Given the description of an element on the screen output the (x, y) to click on. 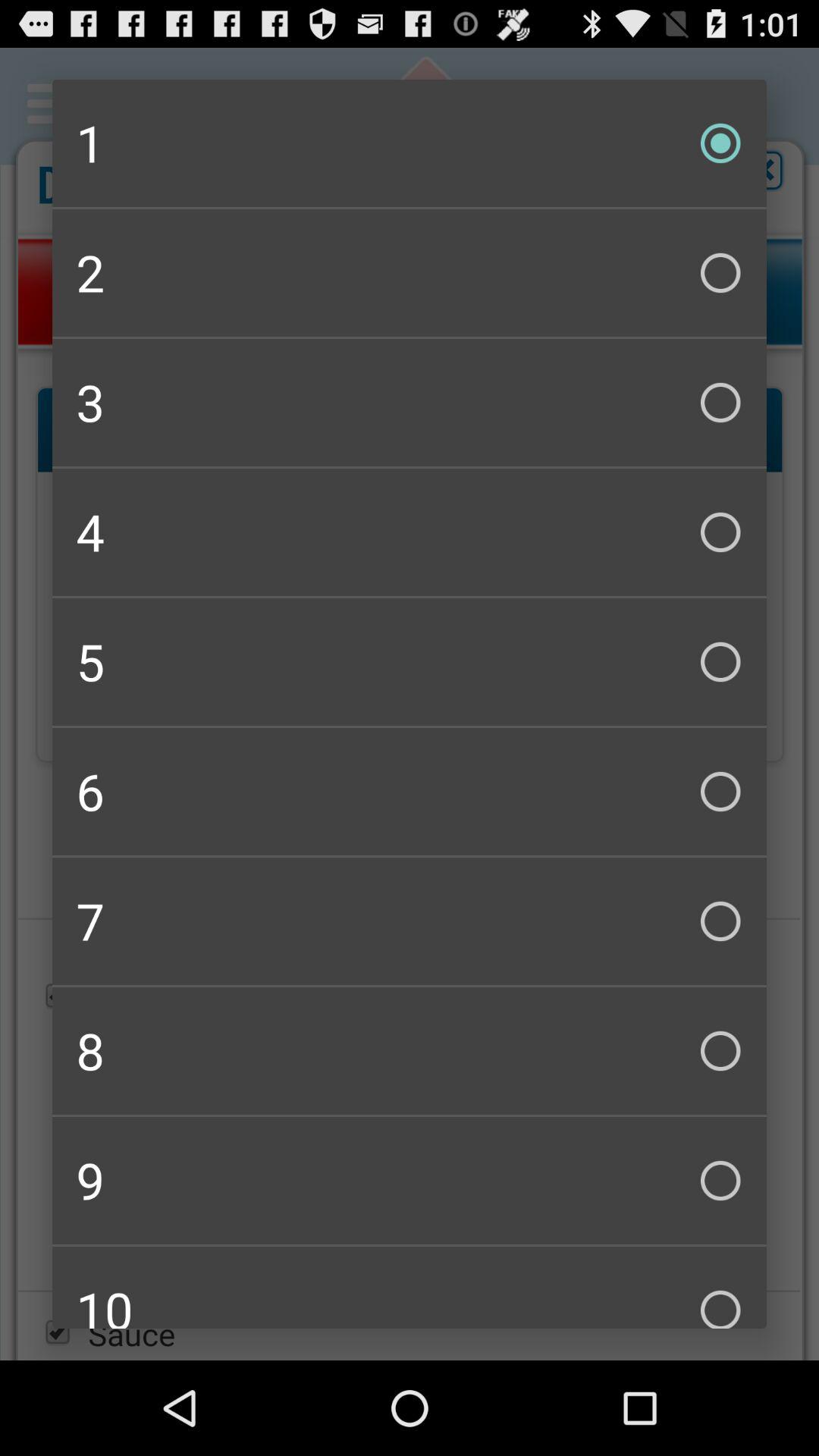
launch the checkbox above 9 (409, 1050)
